Given the description of an element on the screen output the (x, y) to click on. 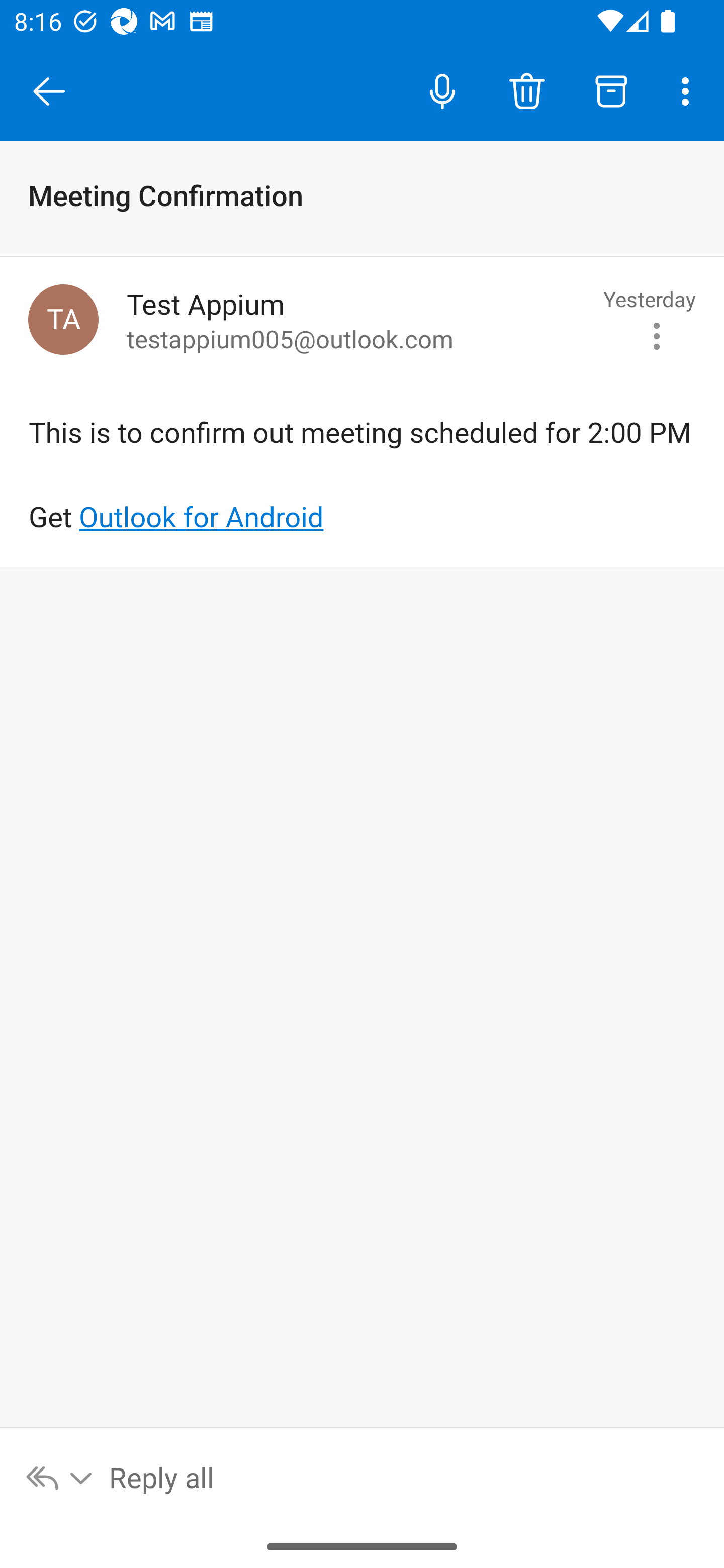
Close (49, 91)
Delete (526, 90)
Archive (611, 90)
More options (688, 90)
Test Appium, testappium002@outlook.com (63, 318)
Test Appium
to testappium005@outlook.com (357, 319)
Message actions (656, 336)
Reply options (59, 1476)
